Given the description of an element on the screen output the (x, y) to click on. 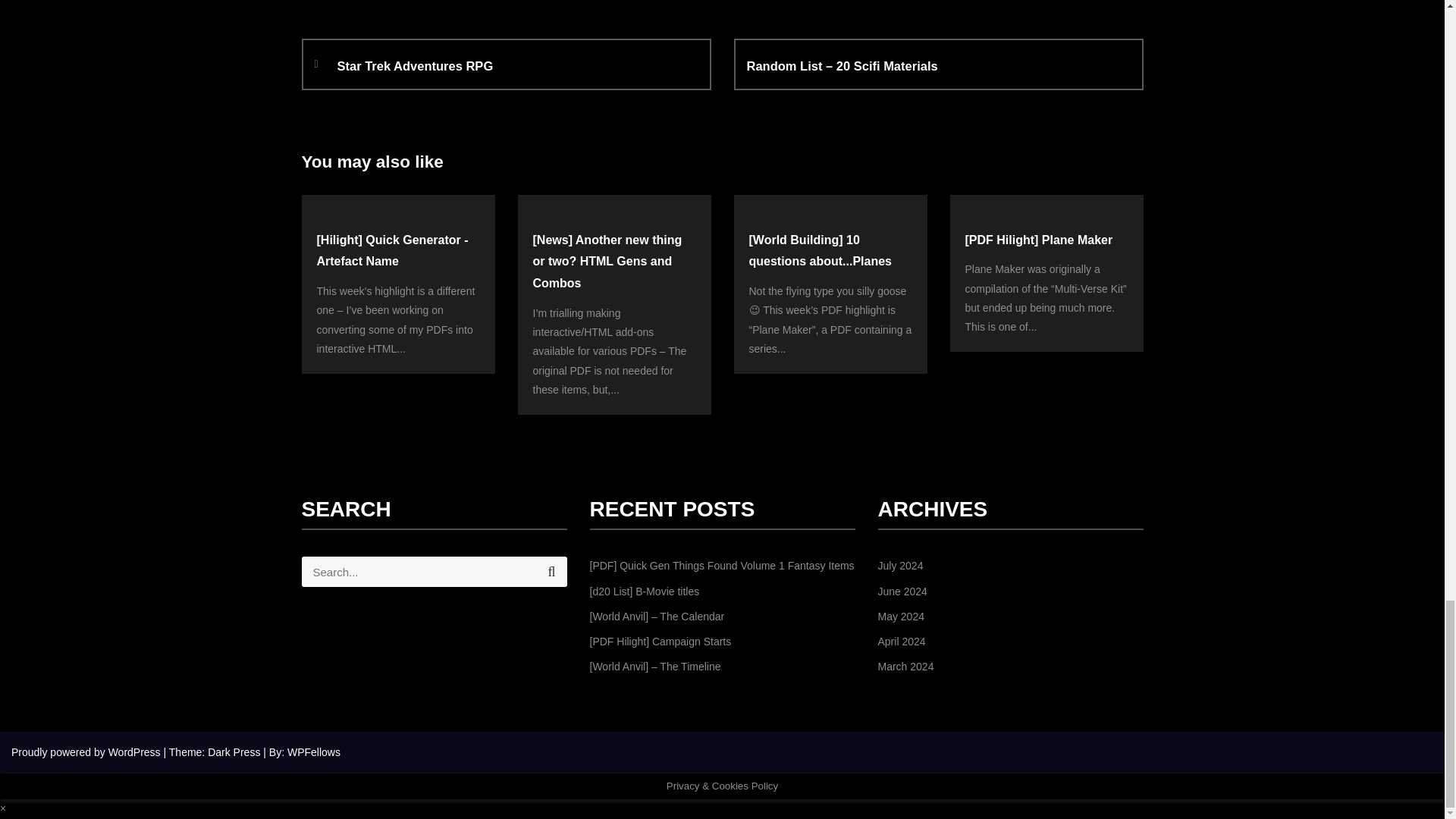
June 2024 (902, 591)
July 2024 (900, 565)
Search (516, 66)
